Given the description of an element on the screen output the (x, y) to click on. 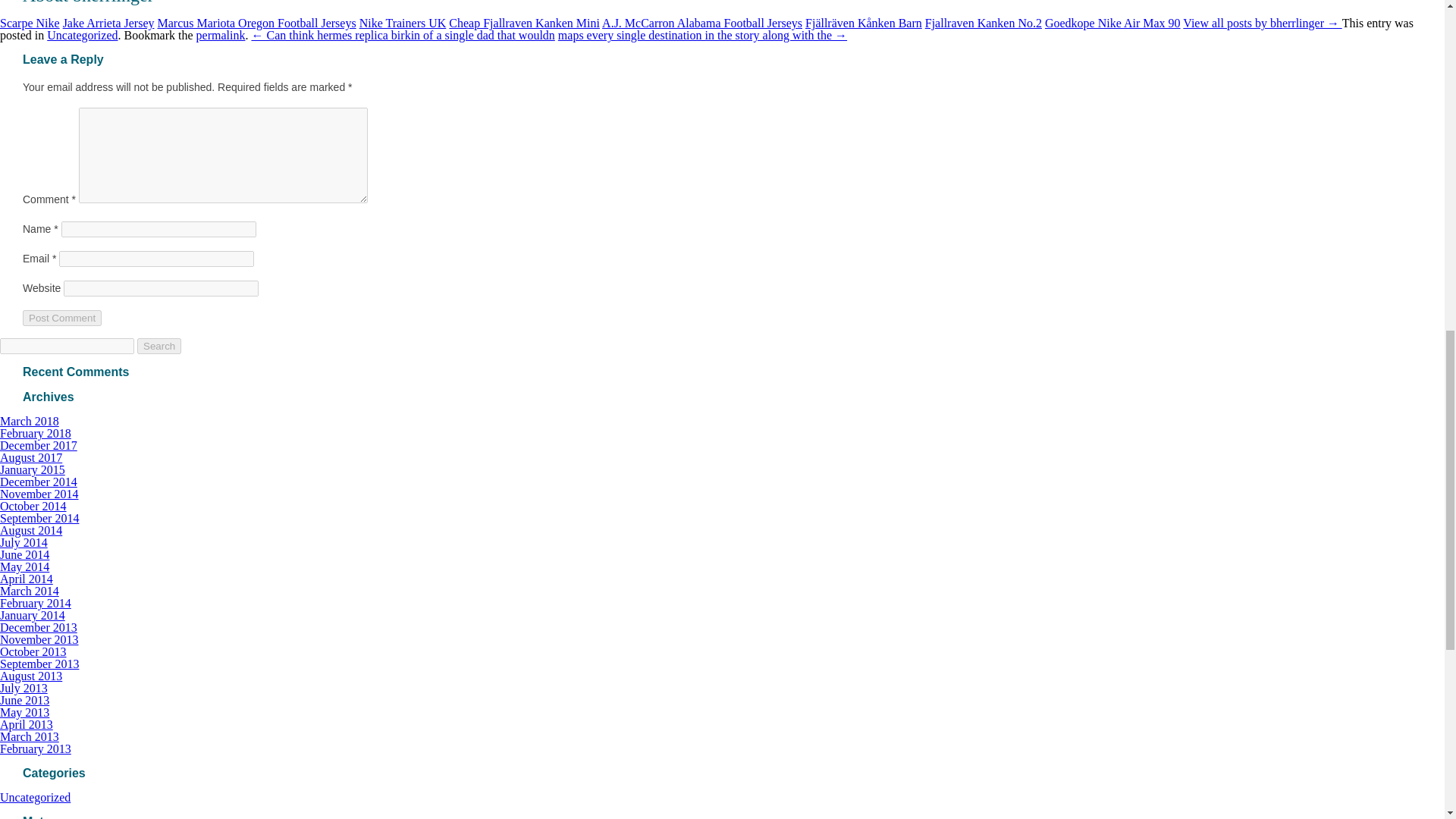
September 2014 (39, 517)
December 2017 (38, 445)
permalink (221, 34)
January 2015 (32, 469)
December 2014 (38, 481)
A.J. McCarron Alabama Football Jerseys (702, 22)
Cheap Fjallraven Kanken Mini (523, 22)
August 2017 (31, 457)
August 2014 (31, 530)
Uncategorized (81, 34)
Nike Trainers UK (402, 22)
Search (158, 345)
November 2014 (39, 493)
Jake Arrieta Jersey (108, 22)
Marcus Mariota Oregon Football Jerseys (256, 22)
